Given the description of an element on the screen output the (x, y) to click on. 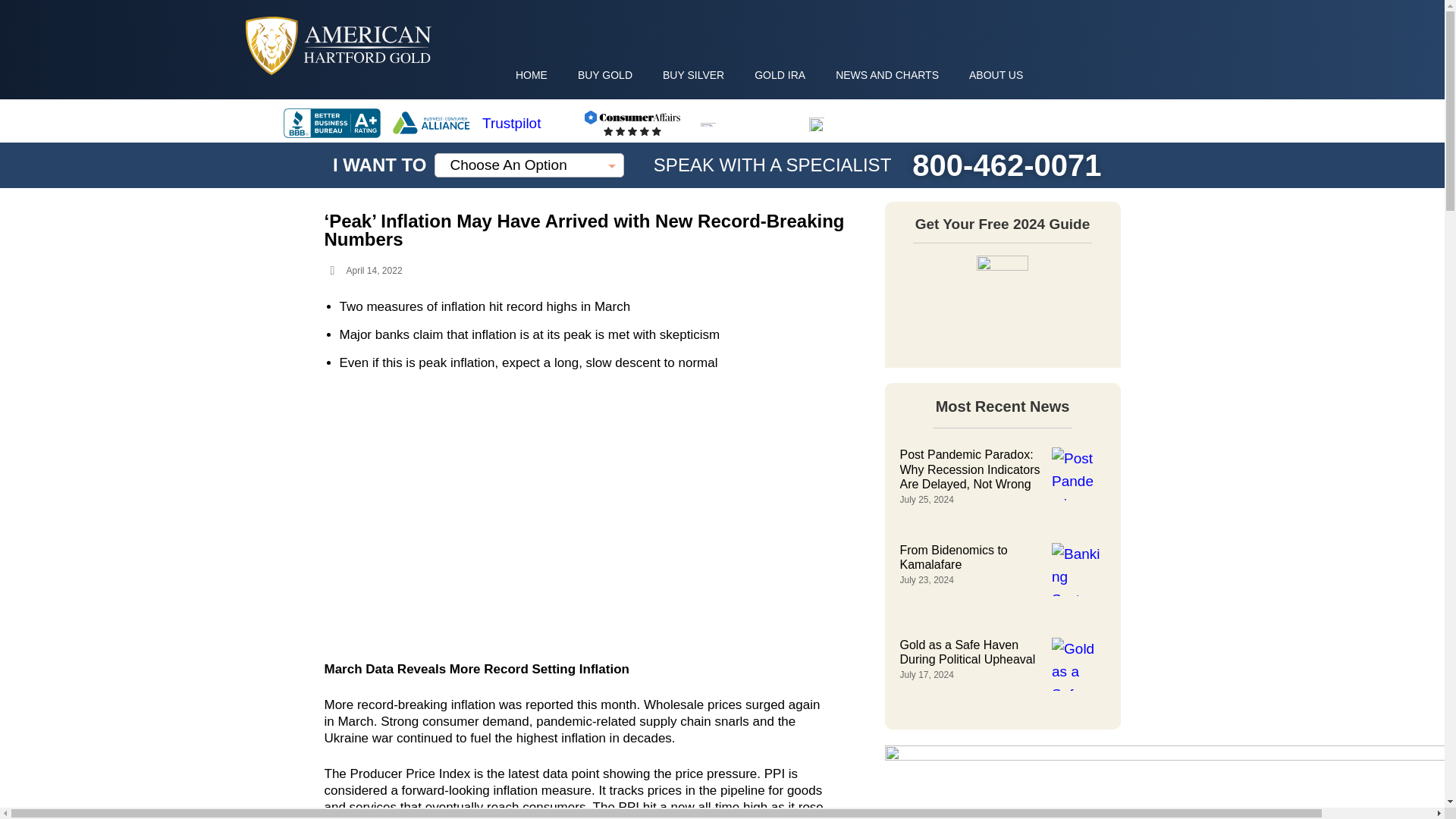
BUY GOLD (604, 74)
HOME (531, 74)
